Given the description of an element on the screen output the (x, y) to click on. 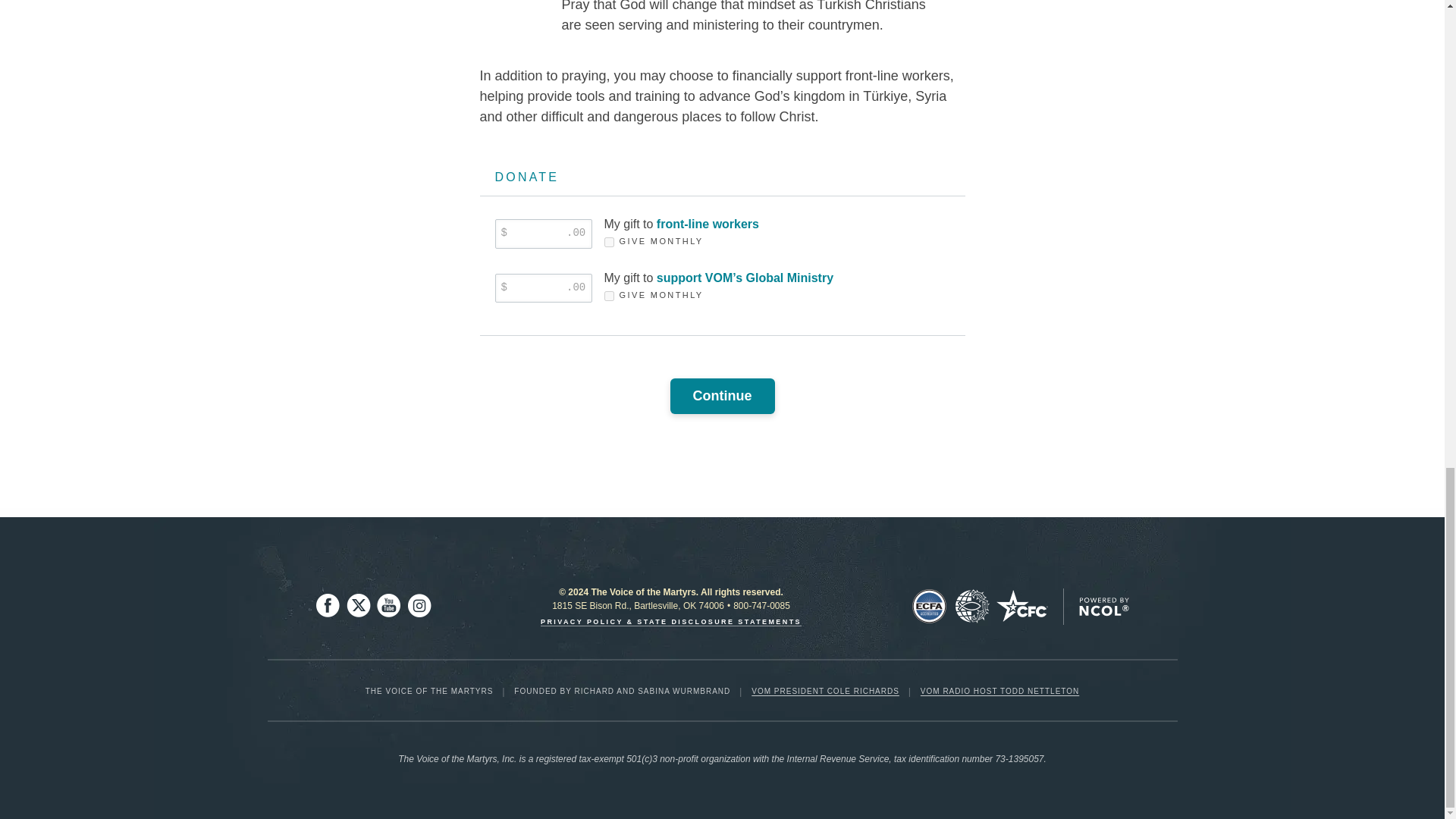
VOM RADIO HOST TODD NETTLETON (999, 691)
Powered by NCOL (1103, 606)
Y (608, 296)
ECFA Member (929, 606)
Instagram (418, 605)
CFC (1021, 606)
YouTube (387, 605)
Twitter (357, 605)
VOM PRESIDENT COLE RICHARDS (825, 691)
Facebook (327, 605)
Continue (721, 396)
Y (608, 242)
International Christian Association (971, 606)
Continue (721, 396)
